Given the description of an element on the screen output the (x, y) to click on. 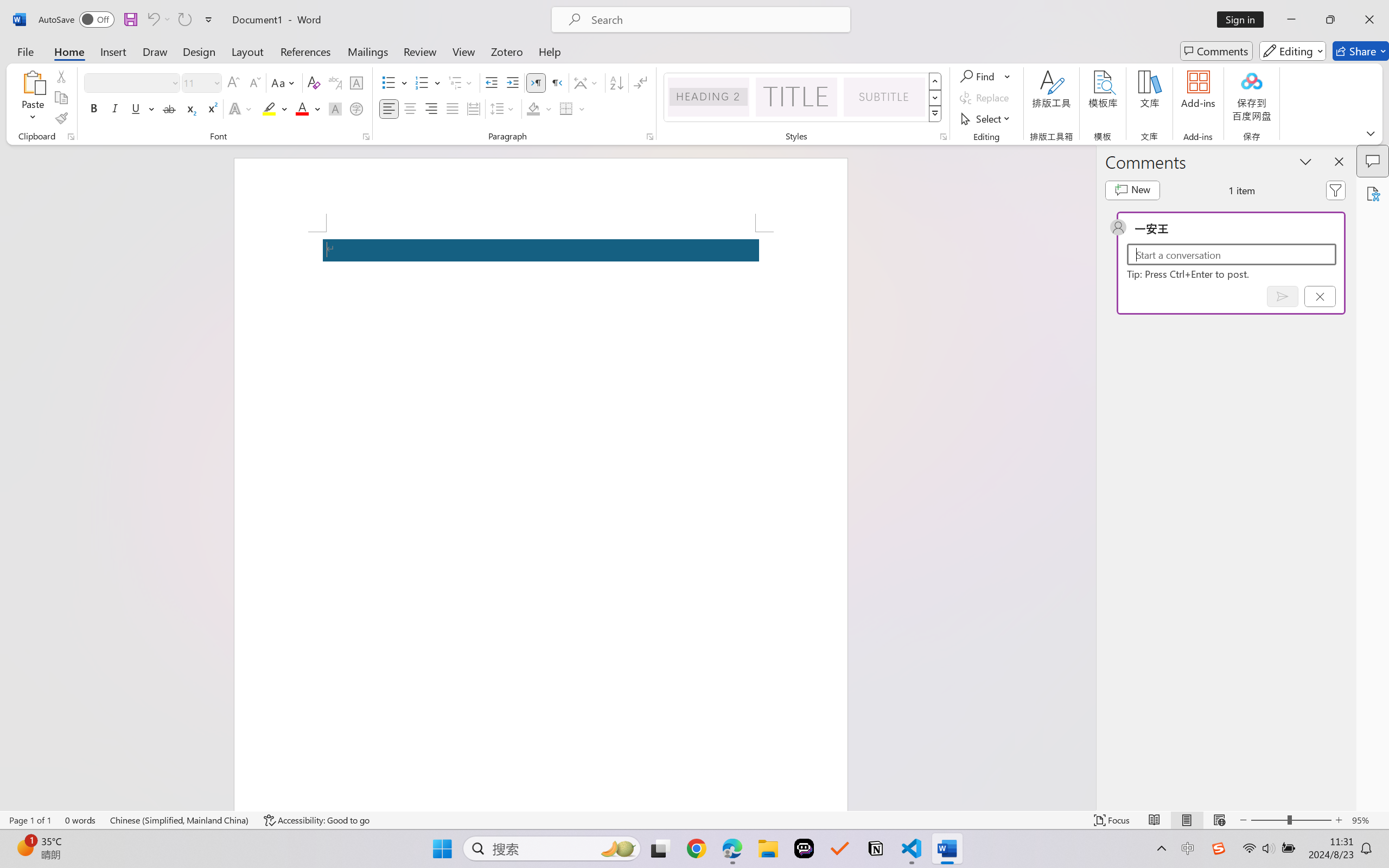
Title (796, 96)
Cancel (1320, 296)
